Given the description of an element on the screen output the (x, y) to click on. 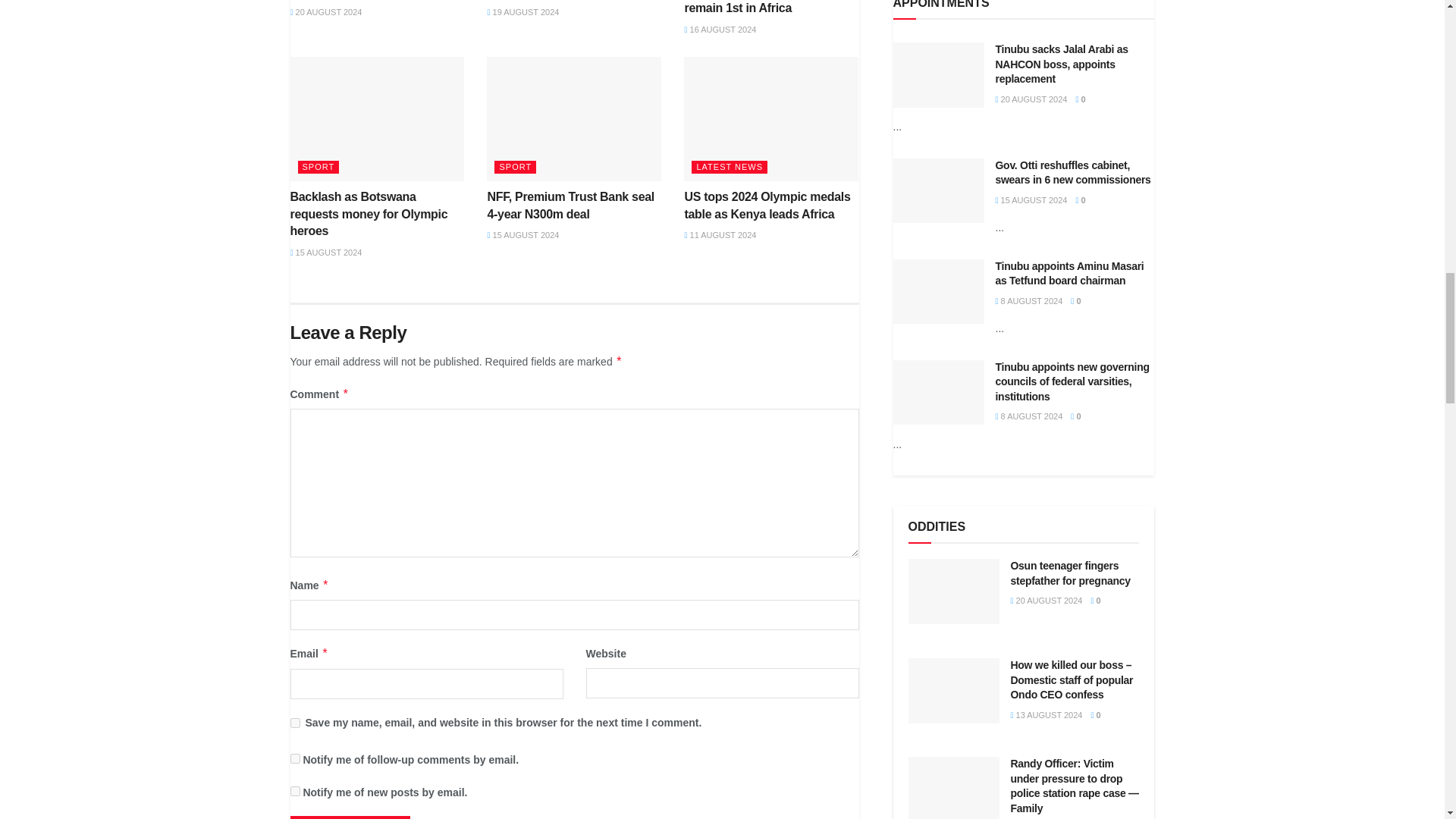
subscribe (294, 758)
Post Comment (349, 817)
yes (294, 723)
subscribe (294, 790)
